Given the description of an element on the screen output the (x, y) to click on. 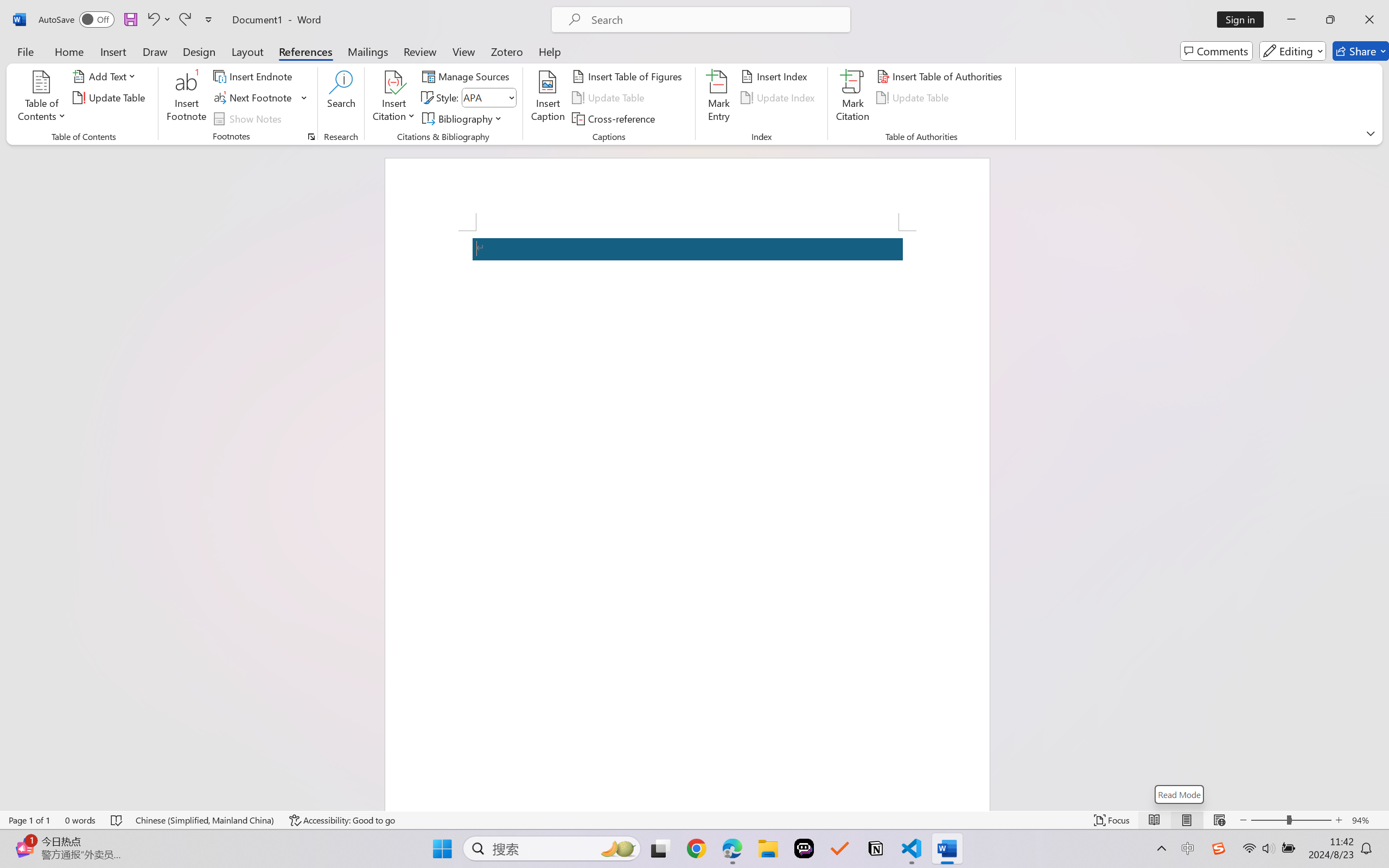
Insert Table of Figures... (628, 75)
Mark Entry... (718, 97)
Insert Citation (393, 97)
Next Footnote (260, 97)
Manage Sources... (467, 75)
Sign in (1244, 19)
Add Text (106, 75)
Next Footnote (253, 97)
